Given the description of an element on the screen output the (x, y) to click on. 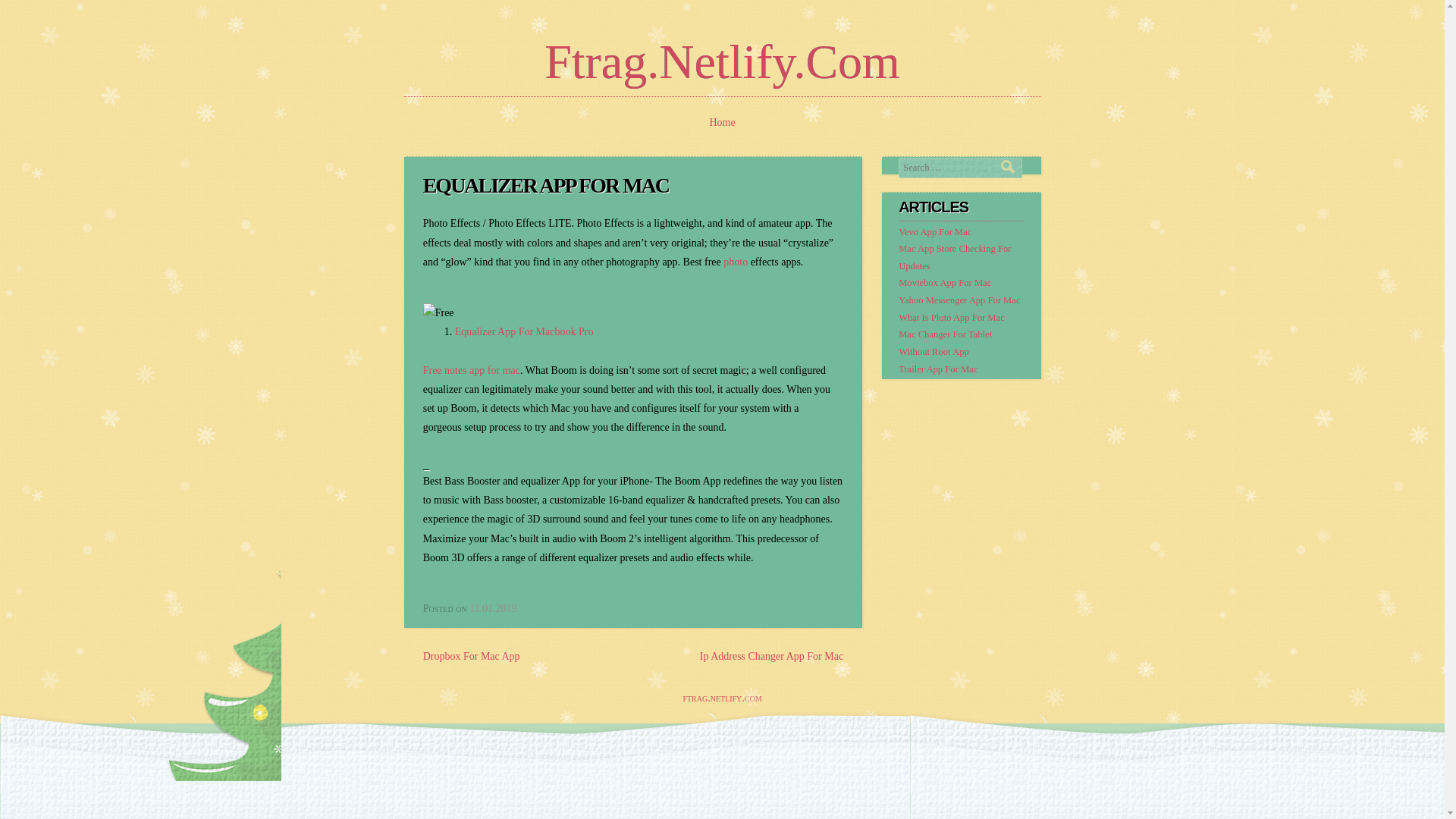
11:01 (492, 608)
Search (1012, 165)
Free notes app for mac (471, 369)
Dropbox For Mac App (471, 655)
photo (735, 261)
Vevo App For Mac (934, 231)
Mac App Store Checking For Updates (954, 257)
ftrag.netlify.com (721, 61)
Ip Address Changer App For Mac (771, 655)
Mac Changer For Tablet Without Root App (944, 343)
Free (438, 312)
Moviebox App For Mac (944, 282)
Equalizer App For Macbook Pro (524, 331)
ftrag.netlify.com (721, 697)
Yahoo Messenger App For Mac (959, 299)
